Given the description of an element on the screen output the (x, y) to click on. 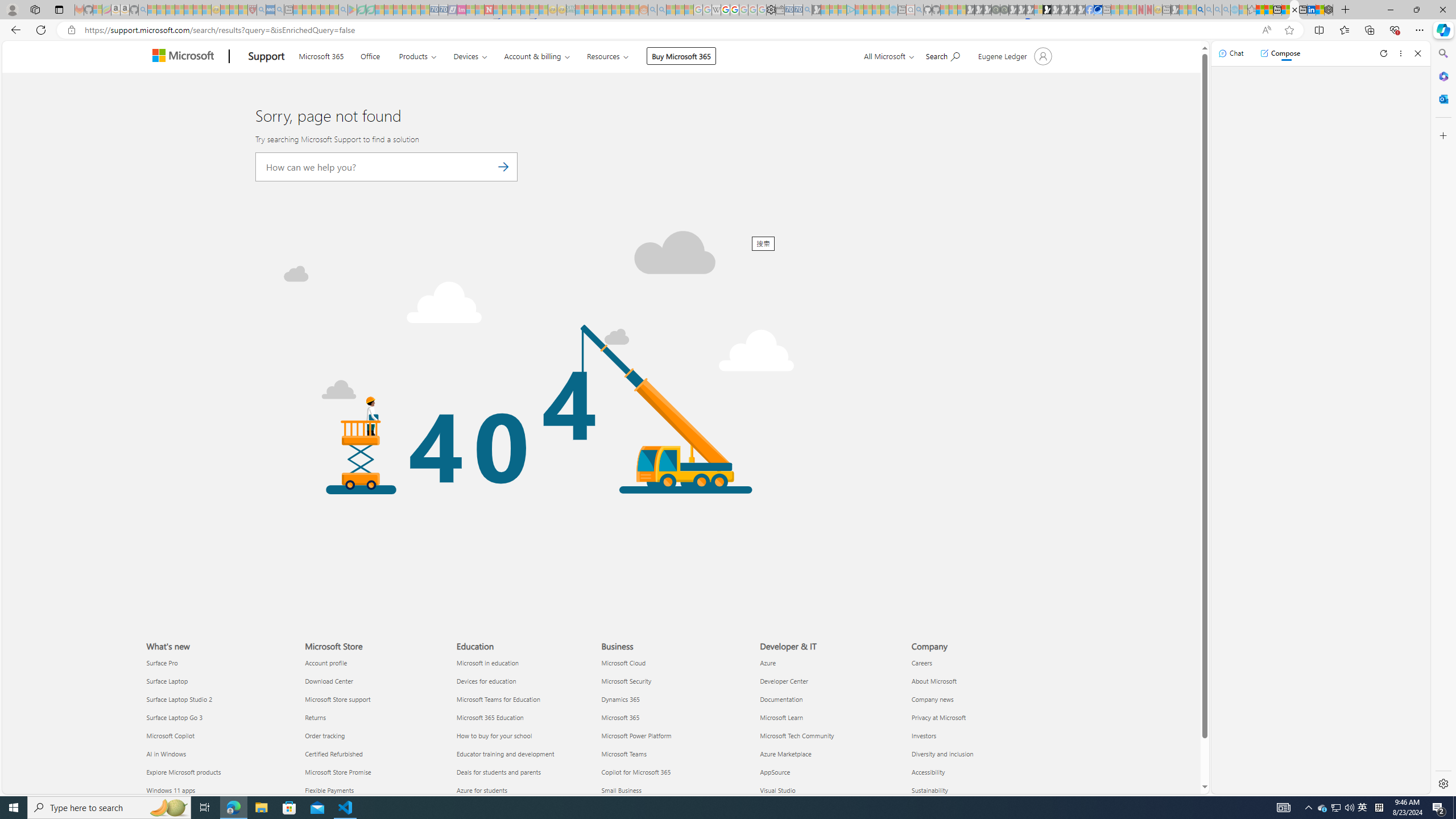
Buy Microsoft 365 (681, 55)
Microsoft 365 Business (620, 716)
Bing Real Estate - Home sales and rental listings - Sleeping (806, 9)
Microsoft Learn (829, 717)
Nordace - Summer Adventures 2024 (1328, 9)
Support (266, 56)
Certified Refurbished (373, 753)
Microsoft Teams for Education Education (497, 698)
